Given the description of an element on the screen output the (x, y) to click on. 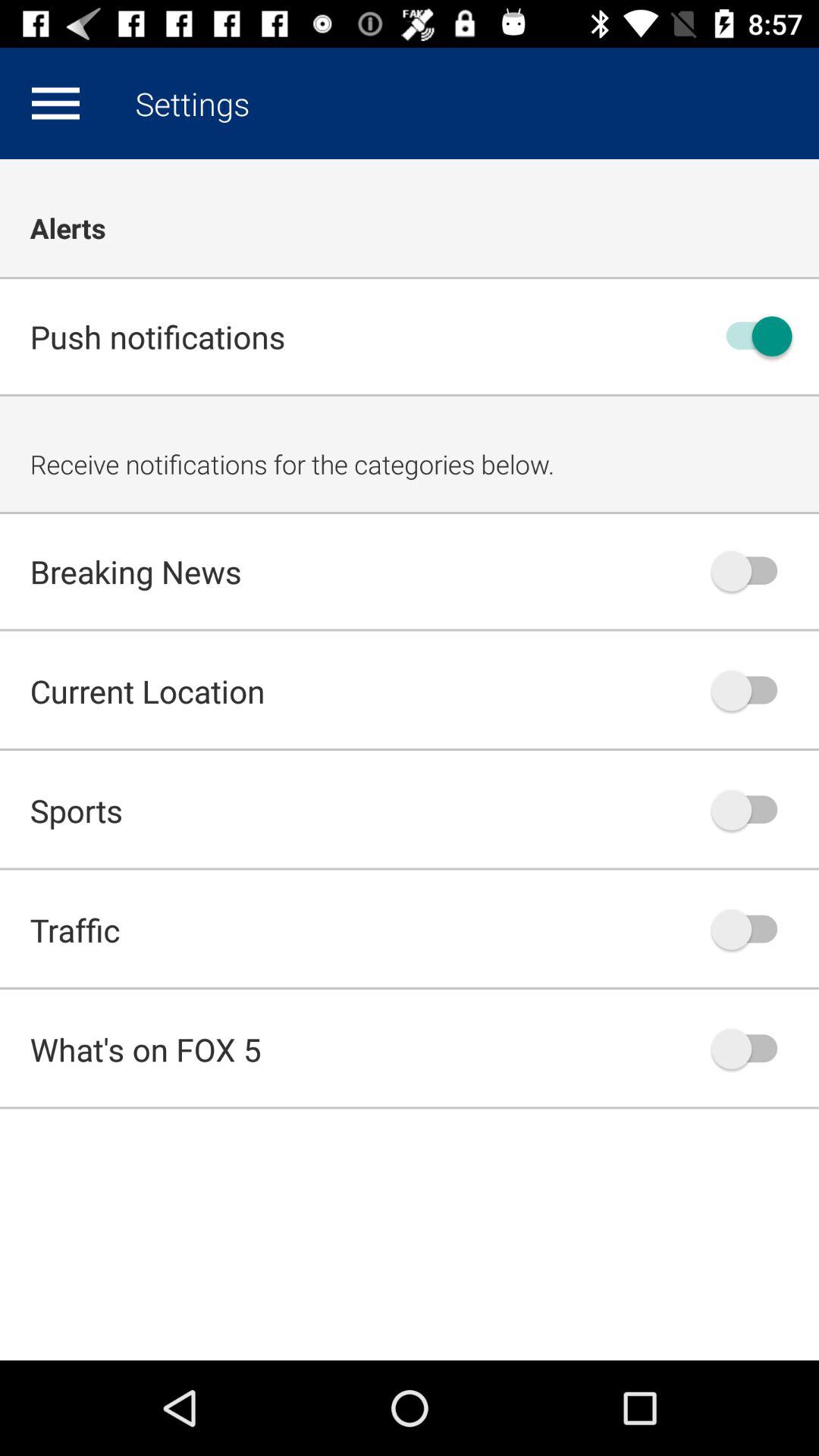
off/on (751, 1049)
